Given the description of an element on the screen output the (x, y) to click on. 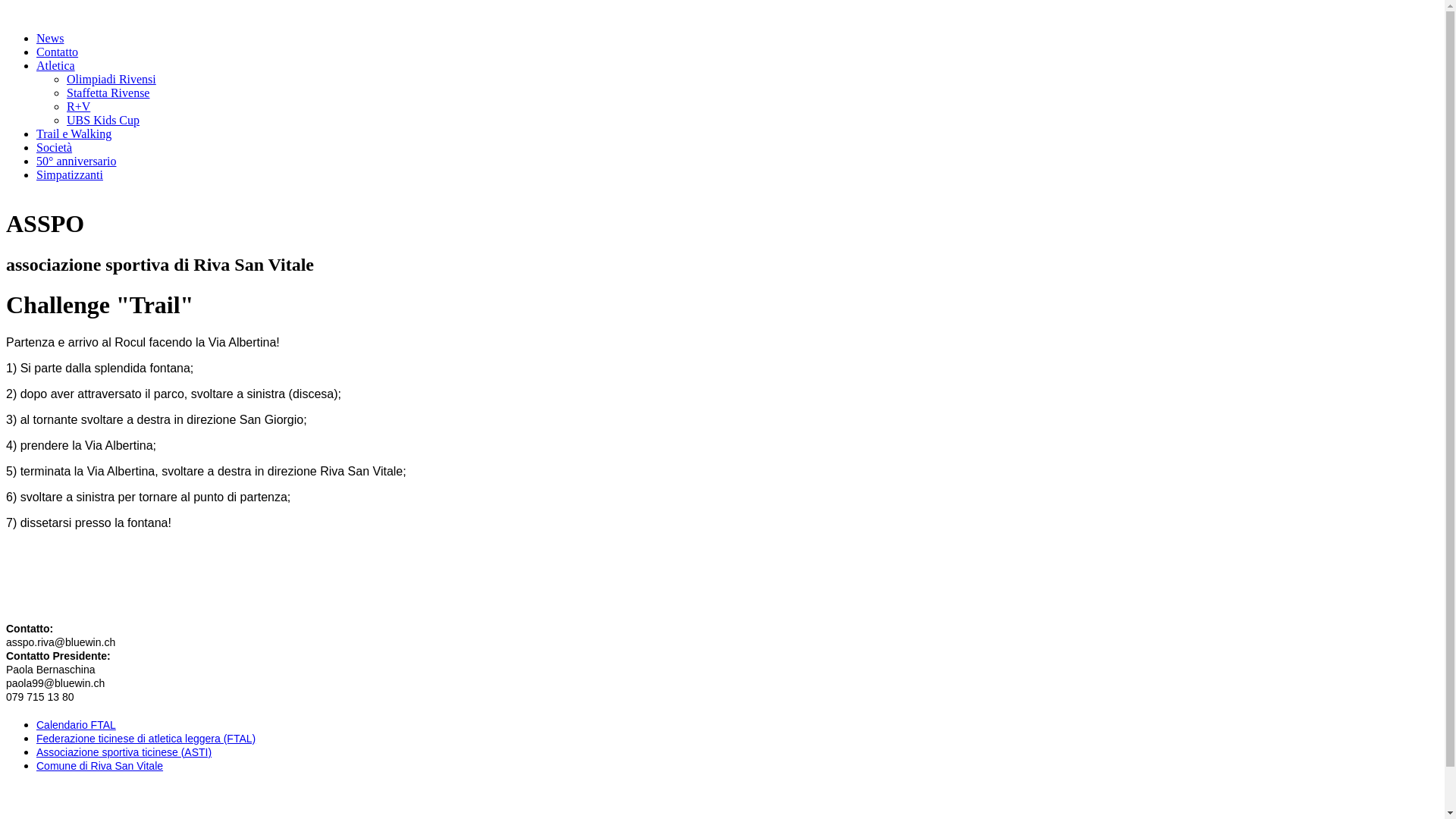
Olimpiadi Rivensi Element type: text (111, 78)
R+V Element type: text (78, 106)
Trail e Walking Element type: text (73, 133)
Associazione sportiva ticinese (ASTI) Element type: text (123, 752)
Federazione ticinese di atletica leggera (FTAL) Element type: text (145, 738)
Simpatizzanti Element type: text (69, 174)
Atletica Element type: text (55, 65)
Staffetta Rivense Element type: text (107, 92)
UBS Kids Cup Element type: text (102, 119)
Contatto Element type: text (57, 51)
News Element type: text (49, 37)
Calendario FTAL Element type: text (76, 724)
Comune di Riva San Vitale Element type: text (99, 765)
